Given the description of an element on the screen output the (x, y) to click on. 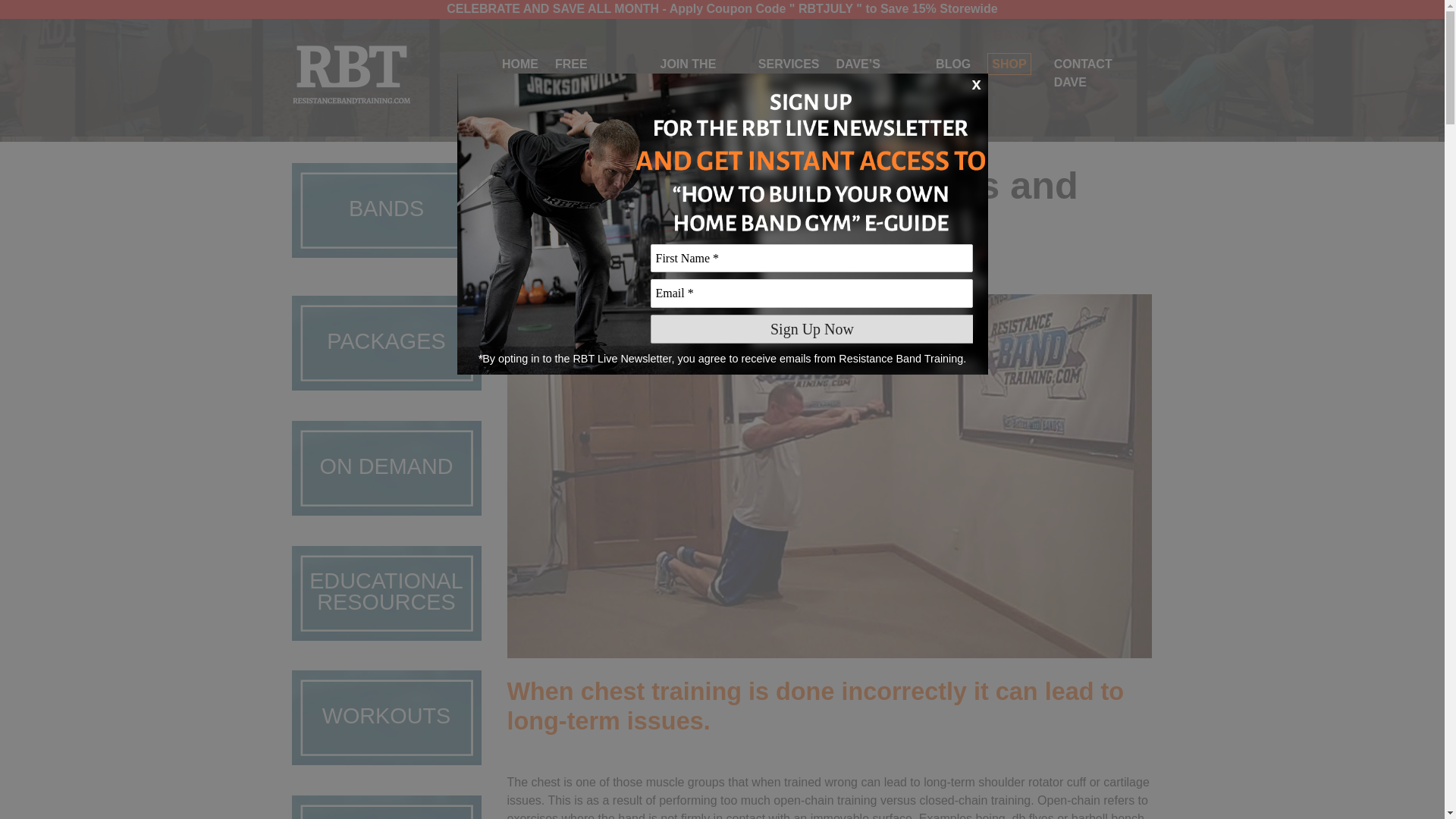
HOME (520, 63)
CONTACT DAVE (1083, 72)
ON DEMAND (385, 472)
BLOG (953, 63)
JOIN THE GYM (688, 72)
5 Comments (672, 266)
SHOP (1008, 64)
SERVICES (788, 63)
RBT Resistance Band Training (351, 74)
EDUCATIONAL RESOURCES (385, 597)
PACKAGES (385, 346)
ACCESSORIES (385, 807)
WORKOUTS (385, 721)
FREE TRAINING (583, 72)
BANDS (385, 221)
